Given the description of an element on the screen output the (x, y) to click on. 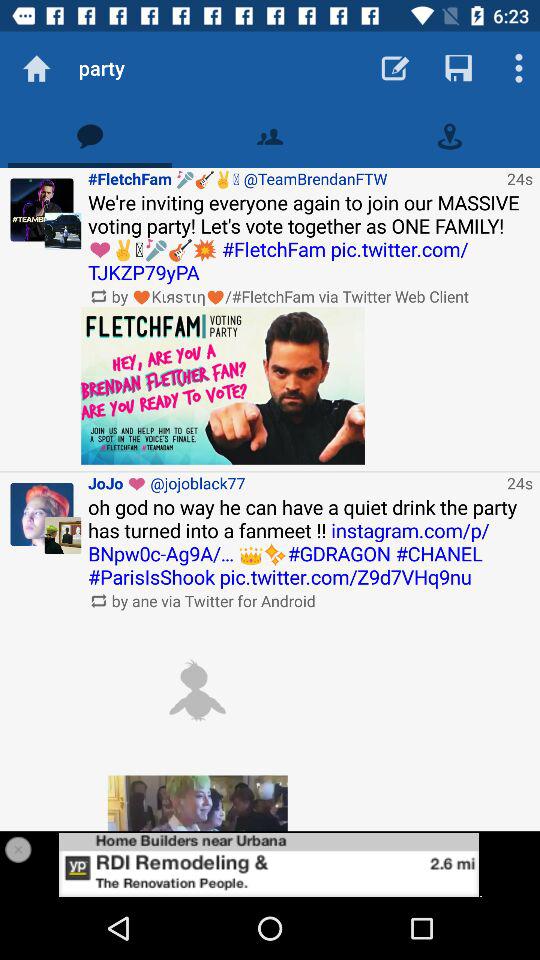
press the item to the left of the party app (36, 68)
